Given the description of an element on the screen output the (x, y) to click on. 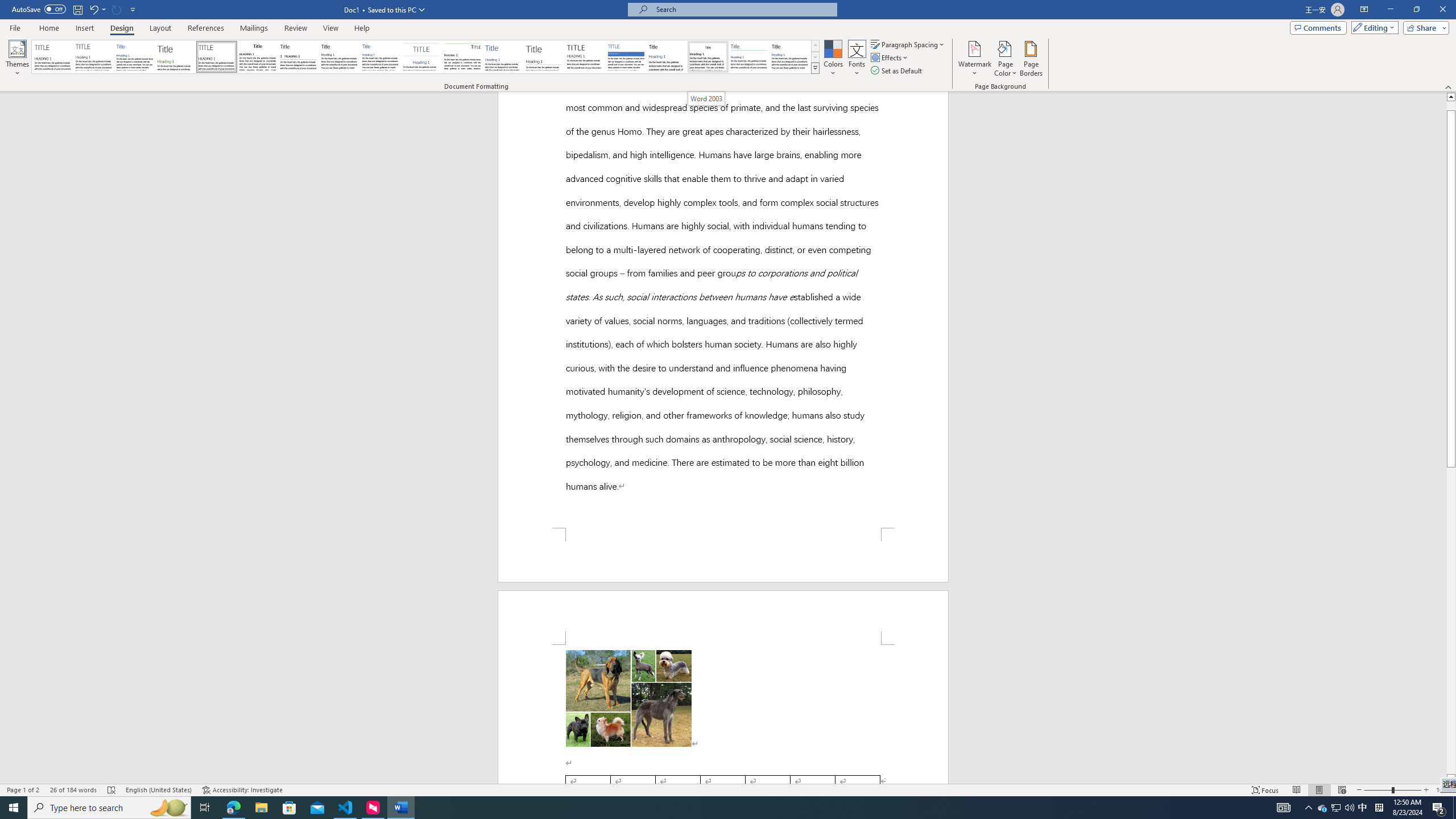
Black & White (Capitalized) (216, 56)
Centered (421, 56)
Basic (Stylish) (175, 56)
Word (666, 56)
Page up (1450, 105)
Colors (832, 58)
Lines (Simple) (503, 56)
